Given the description of an element on the screen output the (x, y) to click on. 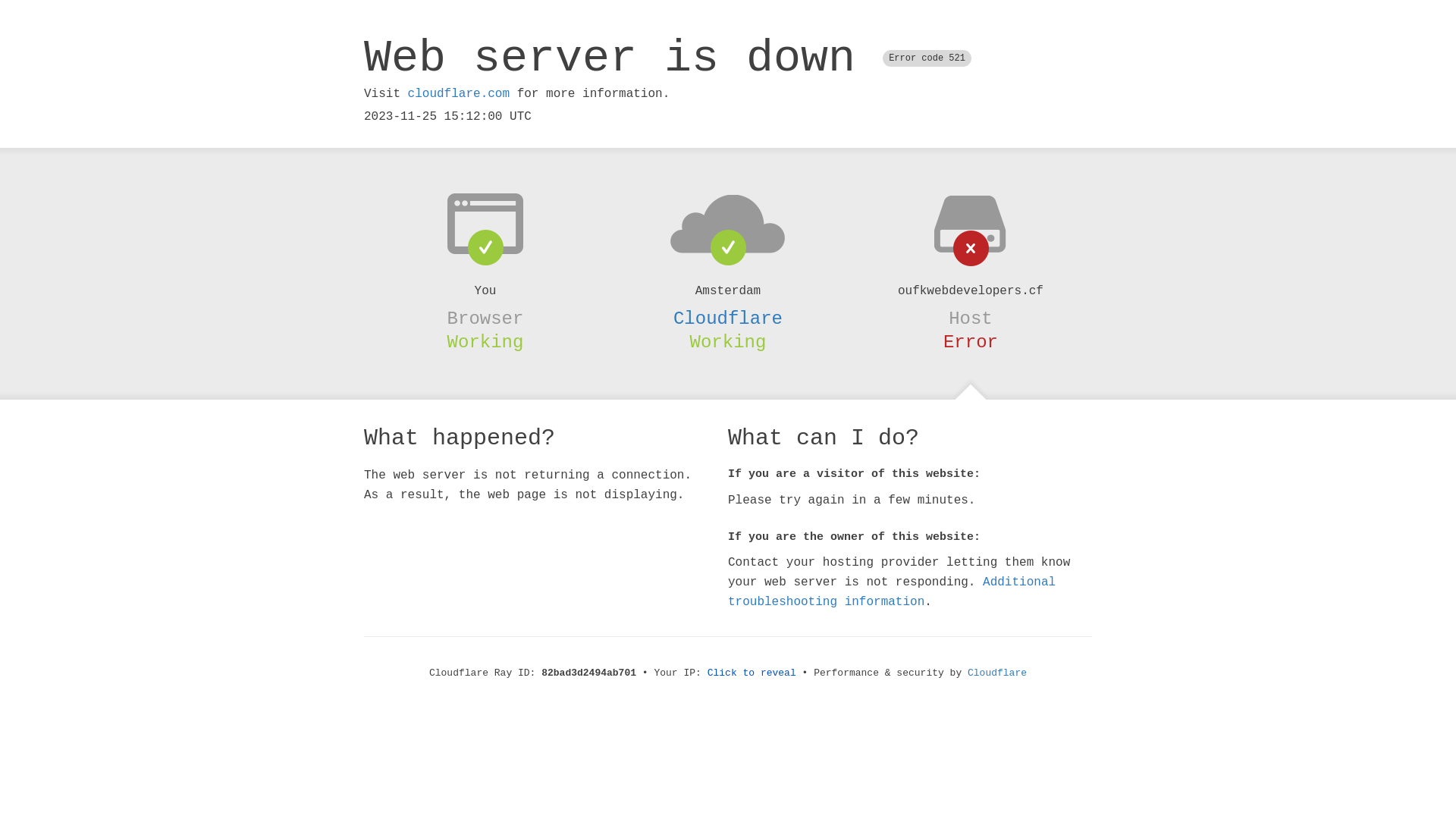
Cloudflare Element type: text (996, 672)
Additional troubleshooting information Element type: text (891, 591)
cloudflare.com Element type: text (458, 93)
Click to reveal Element type: text (751, 672)
Cloudflare Element type: text (727, 318)
